Given the description of an element on the screen output the (x, y) to click on. 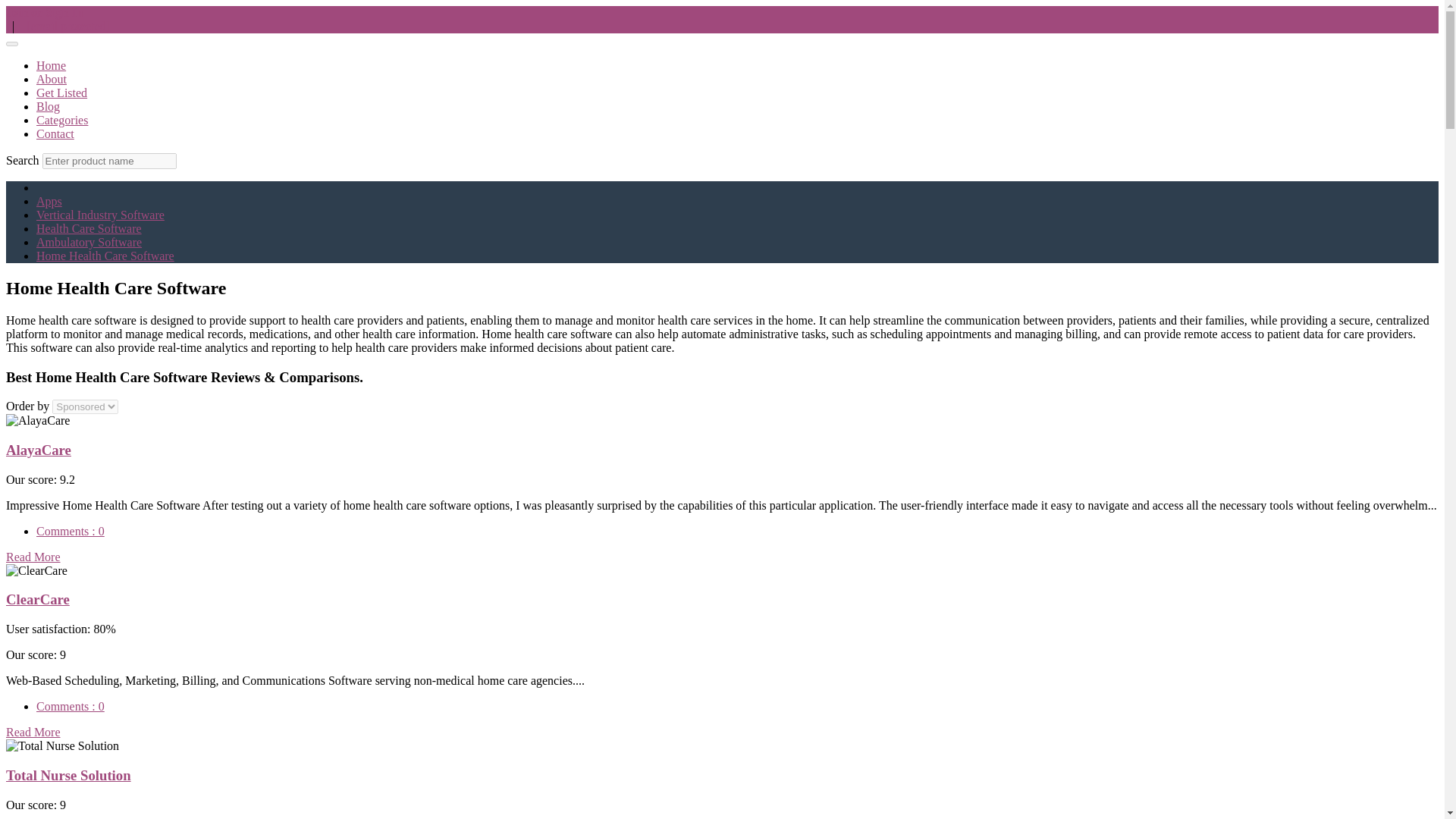
Read More (33, 731)
Blog (47, 106)
About (51, 78)
ClearCare (37, 599)
Home Health Care Software (105, 255)
Ambulatory Software (88, 241)
Join or Sign In (43, 11)
Contact (55, 133)
Health Care Software (88, 228)
Get Listed (61, 92)
AlayaCare (38, 449)
Comments : 0 (70, 706)
Home (50, 65)
Total Nurse Solution (68, 774)
Categories (61, 119)
